Given the description of an element on the screen output the (x, y) to click on. 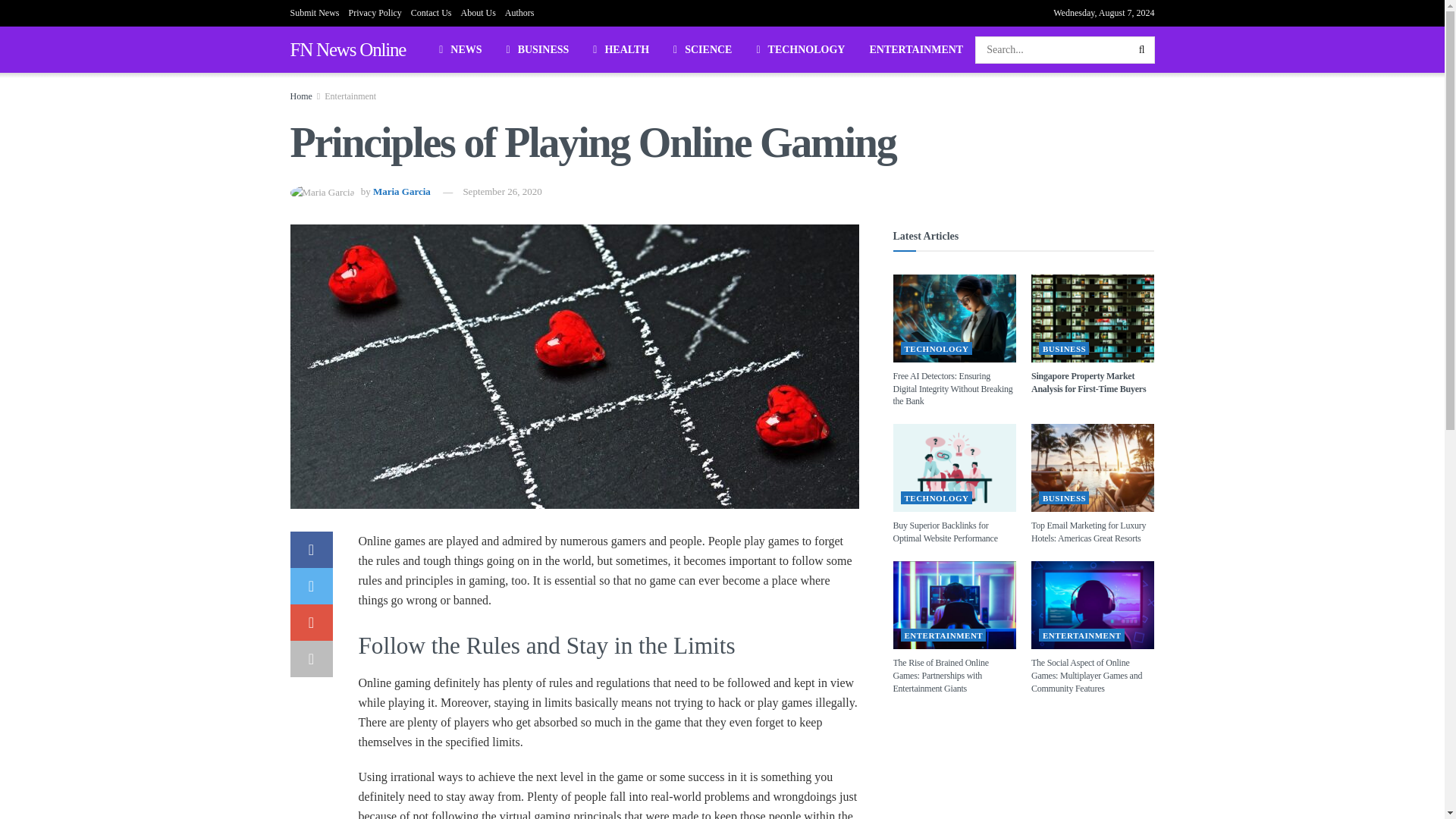
BUSINESS (537, 49)
Entertainment (349, 95)
Submit News (314, 12)
HEALTH (620, 49)
NEWS (459, 49)
SCIENCE (702, 49)
BUSINESS (1064, 348)
Privacy Policy (375, 12)
Contact Us (430, 12)
